Given the description of an element on the screen output the (x, y) to click on. 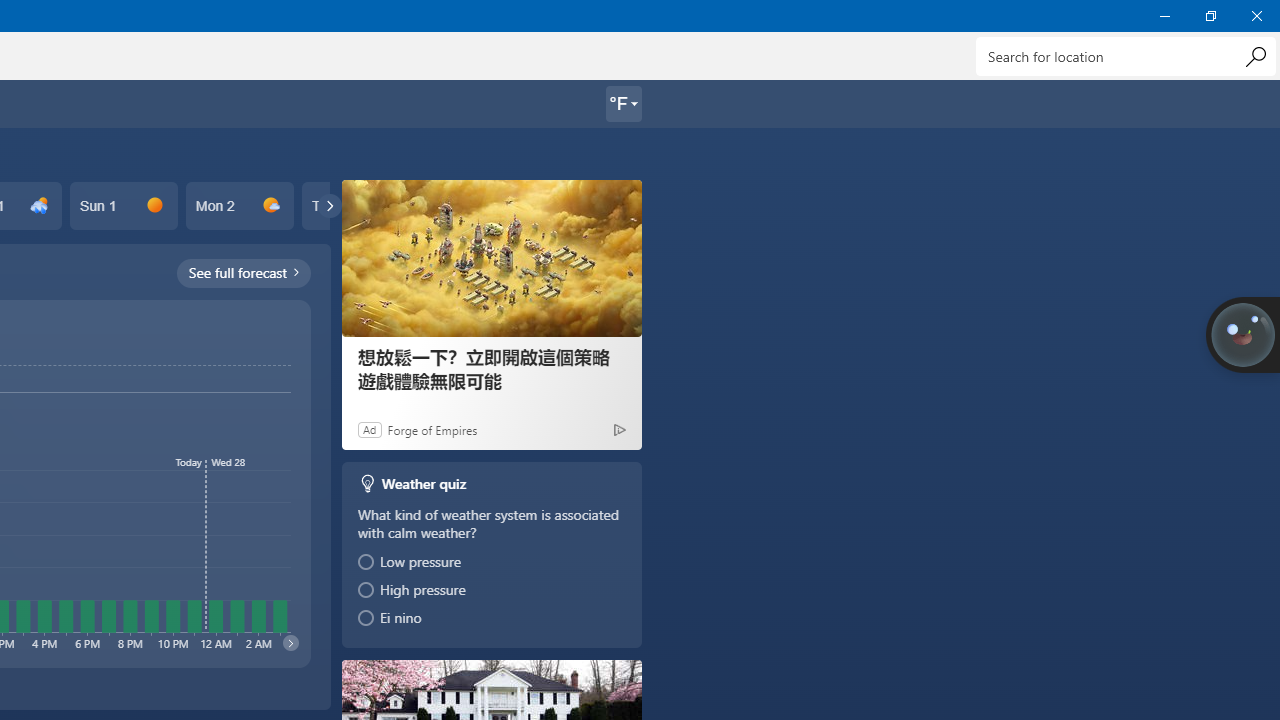
Restore Weather (1210, 15)
Minimize Weather (1164, 15)
Search for location (1125, 56)
Search (1255, 56)
Close Weather (1256, 15)
